Given the description of an element on the screen output the (x, y) to click on. 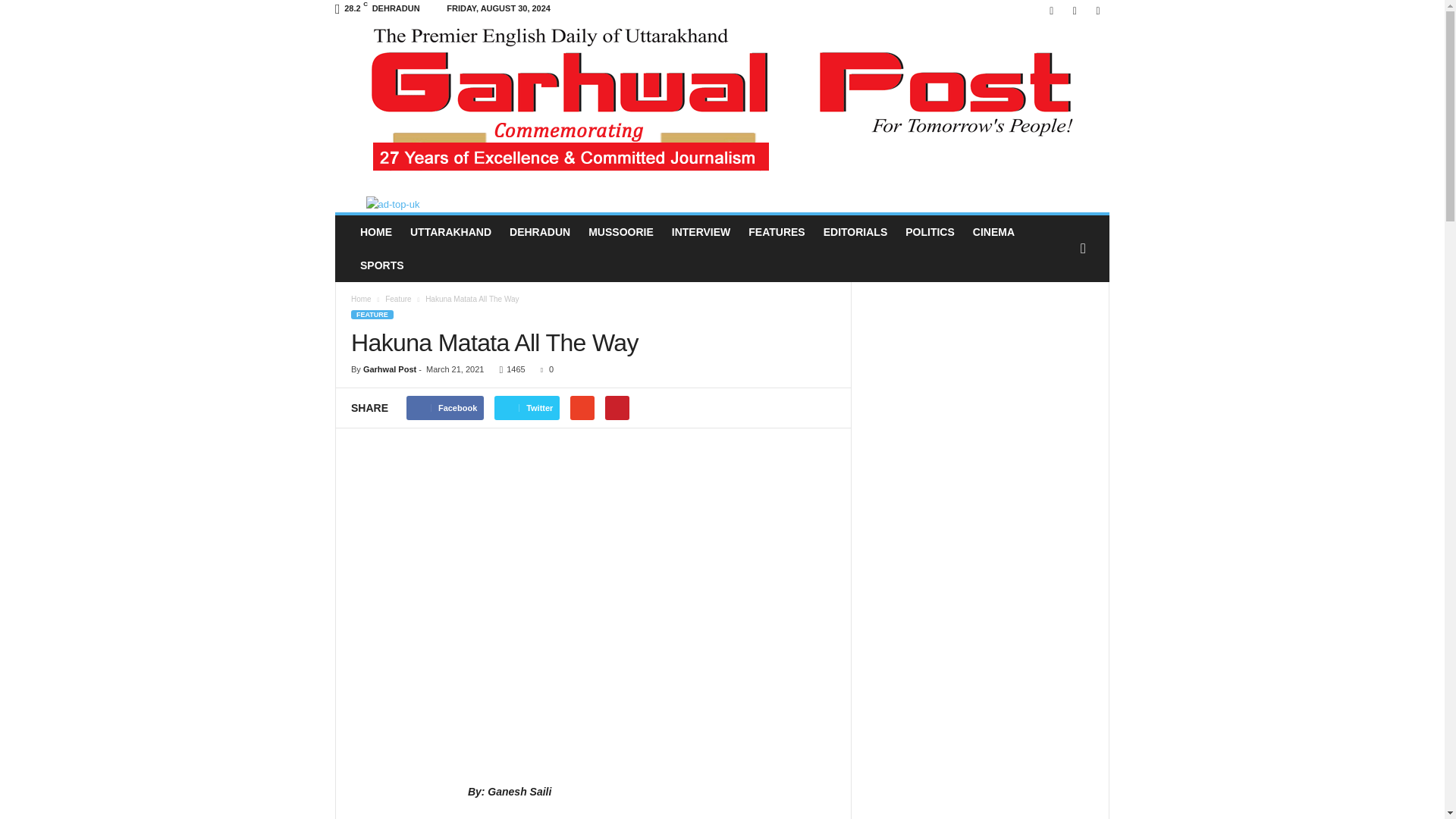
View all posts in Feature (399, 298)
MUSSOORIE (620, 231)
Feature (399, 298)
POLITICS (929, 231)
CINEMA (993, 231)
HOME (375, 231)
Home (361, 298)
FEATURES (776, 231)
UTTARAKHAND (450, 231)
